Given the description of an element on the screen output the (x, y) to click on. 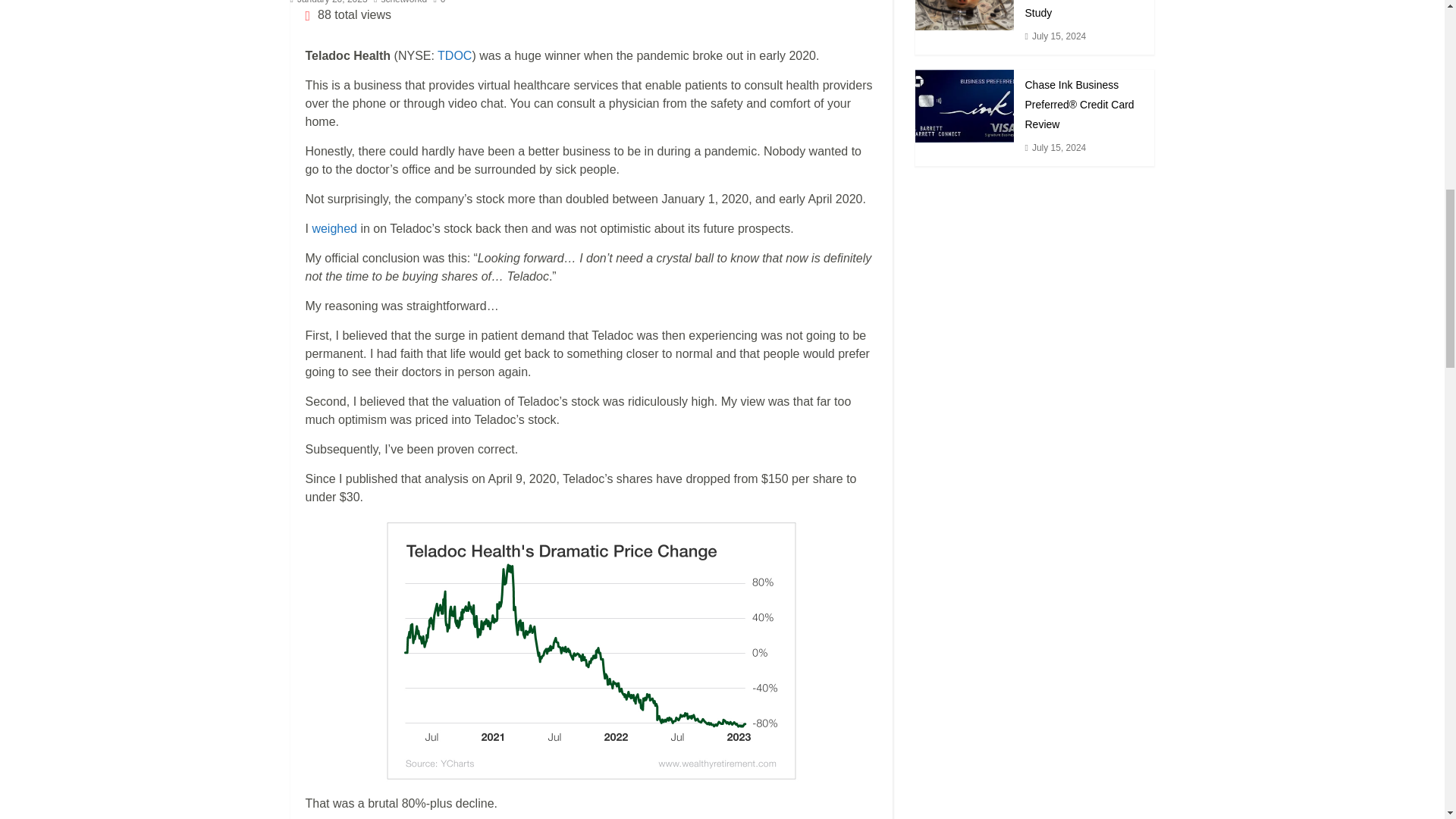
weighed (333, 228)
scnetworkd (403, 2)
11:05 pm (327, 2)
Early Retiree Healthcare: A Case Study (963, 15)
TDOC (454, 55)
